Given the description of an element on the screen output the (x, y) to click on. 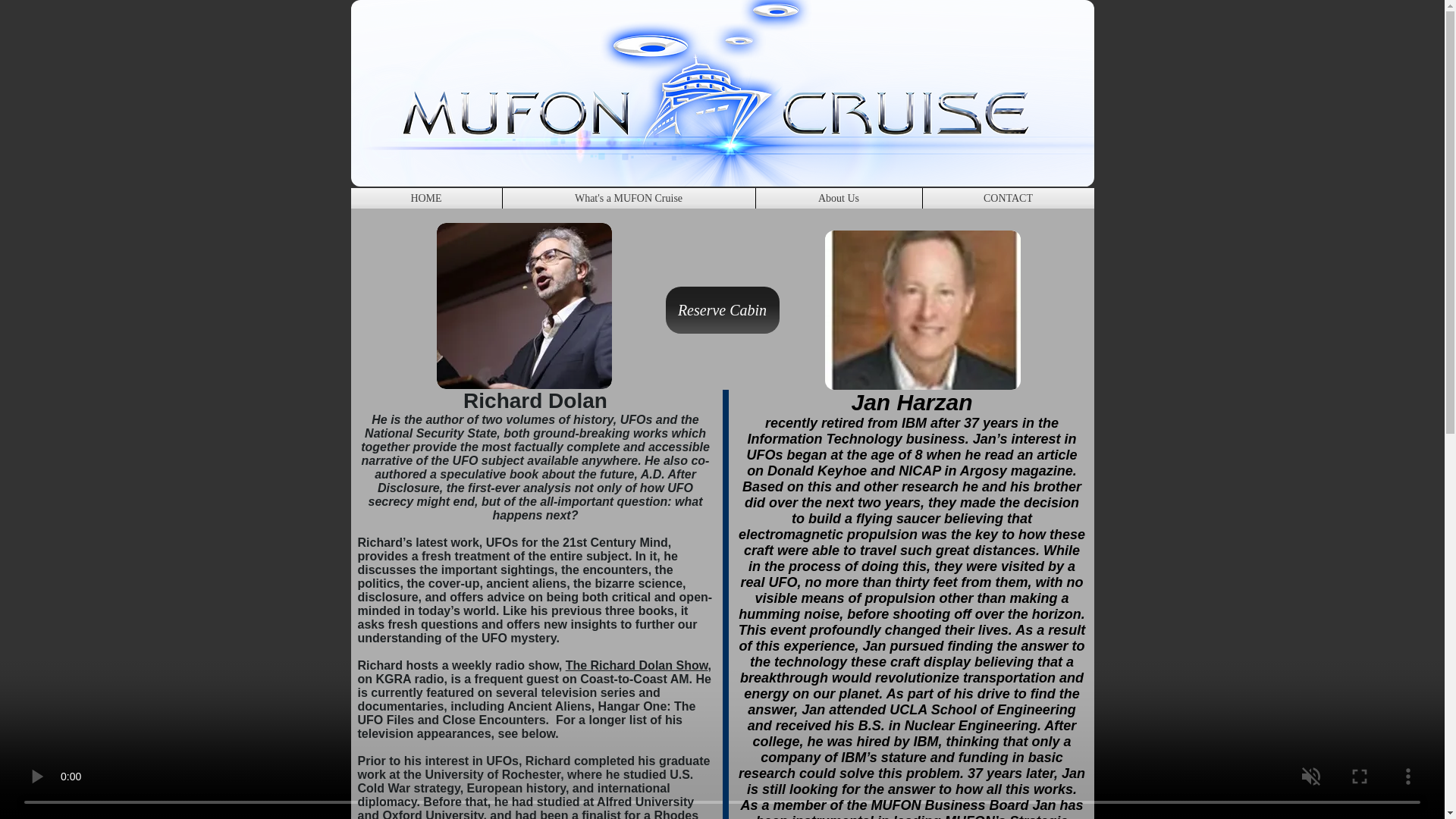
What's a MUFON Cruise (628, 198)
Embedded Content (248, 99)
About Us (838, 198)
The Richard Dolan Show (636, 665)
CONTACT (1007, 198)
HOME (425, 198)
Reserve Cabin (721, 309)
